Given the description of an element on the screen output the (x, y) to click on. 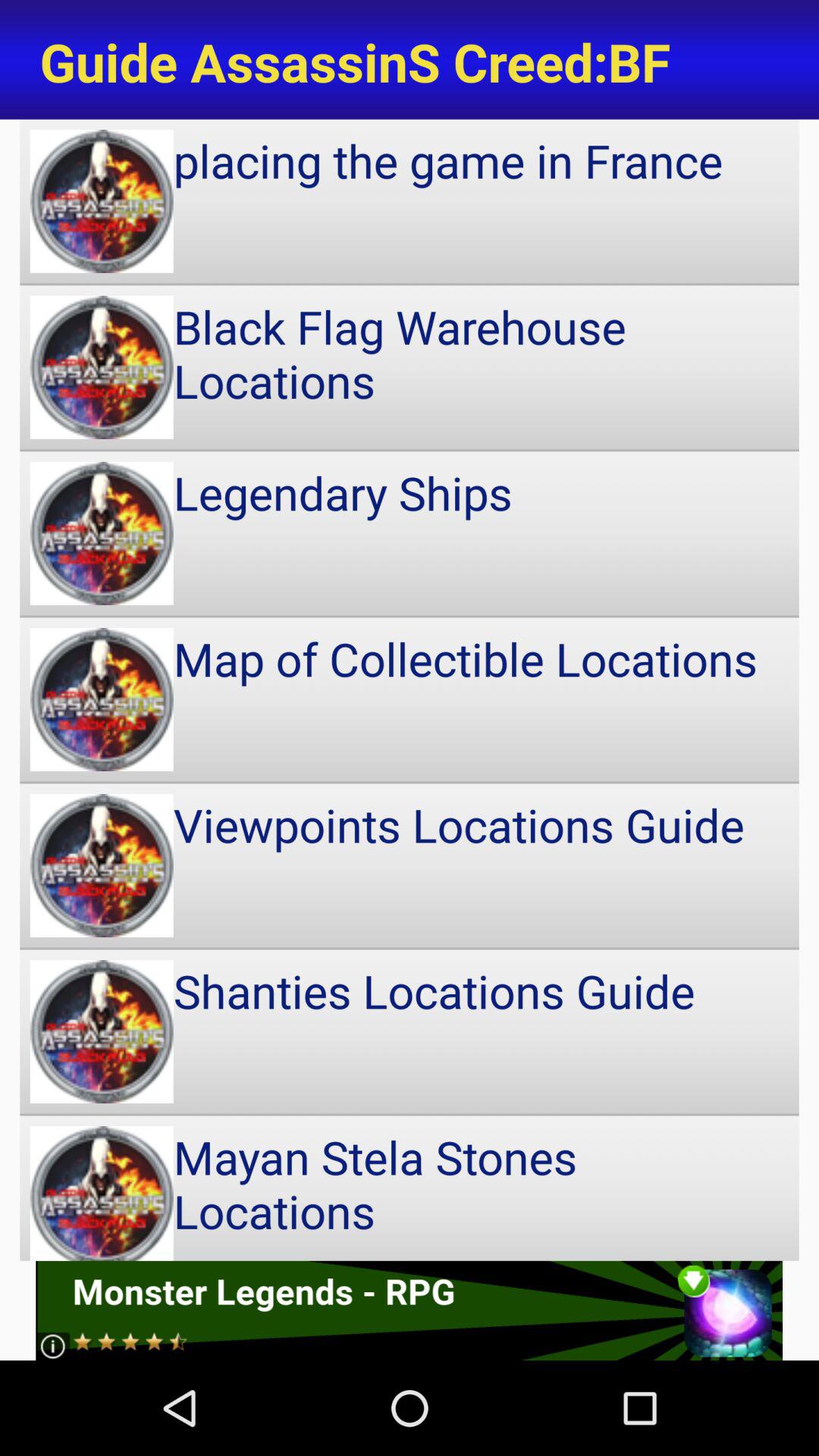
scroll to the shanties locations guide (409, 1031)
